Given the description of an element on the screen output the (x, y) to click on. 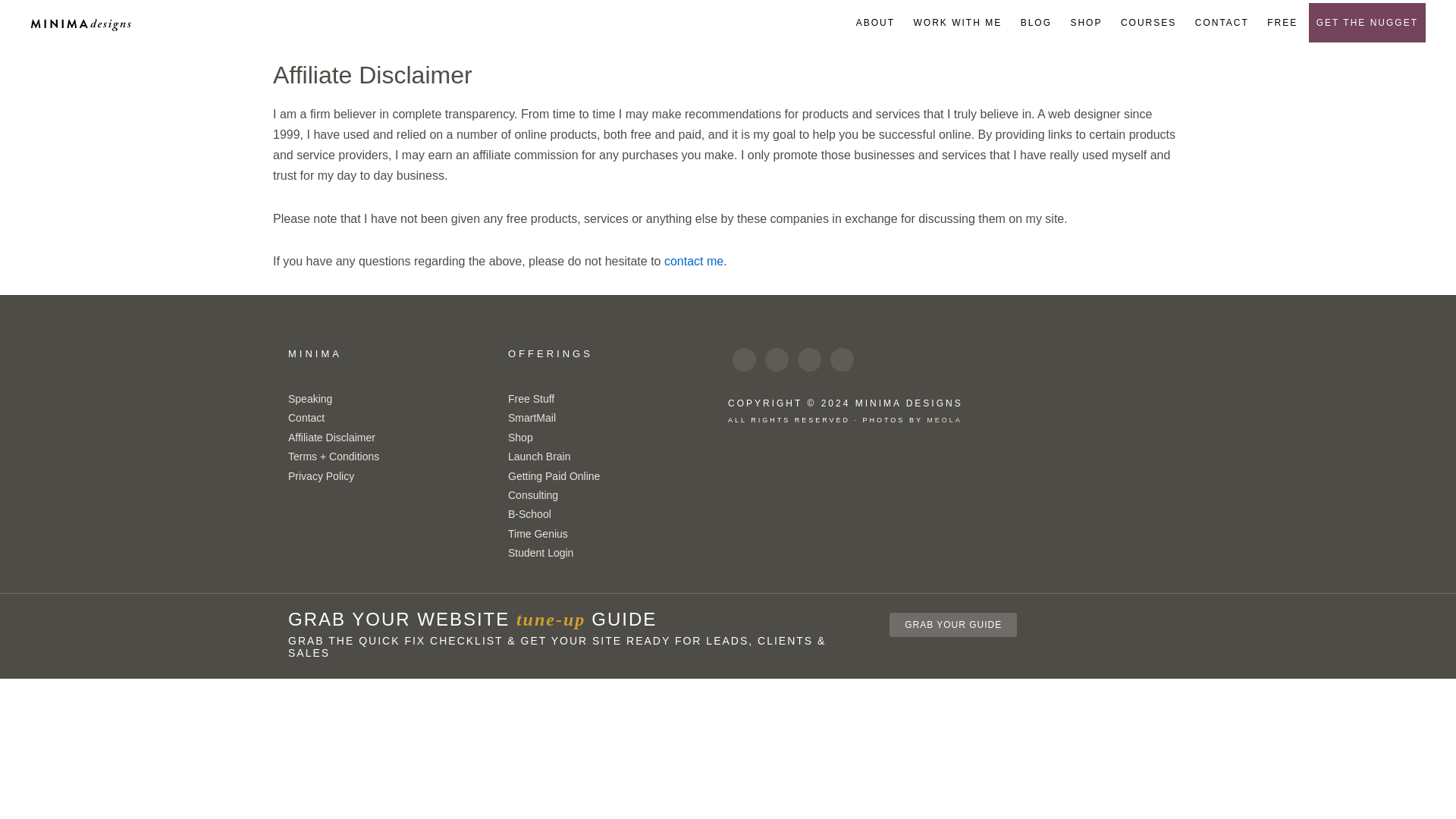
Contact (306, 417)
GET THE NUGGET (1366, 22)
MINIMA DESIGNS (80, 23)
CONTACT (1222, 22)
Shop (520, 437)
BLOG (1036, 22)
Free Stuff (531, 398)
SHOP (1085, 22)
SmartMail (532, 417)
